Given the description of an element on the screen output the (x, y) to click on. 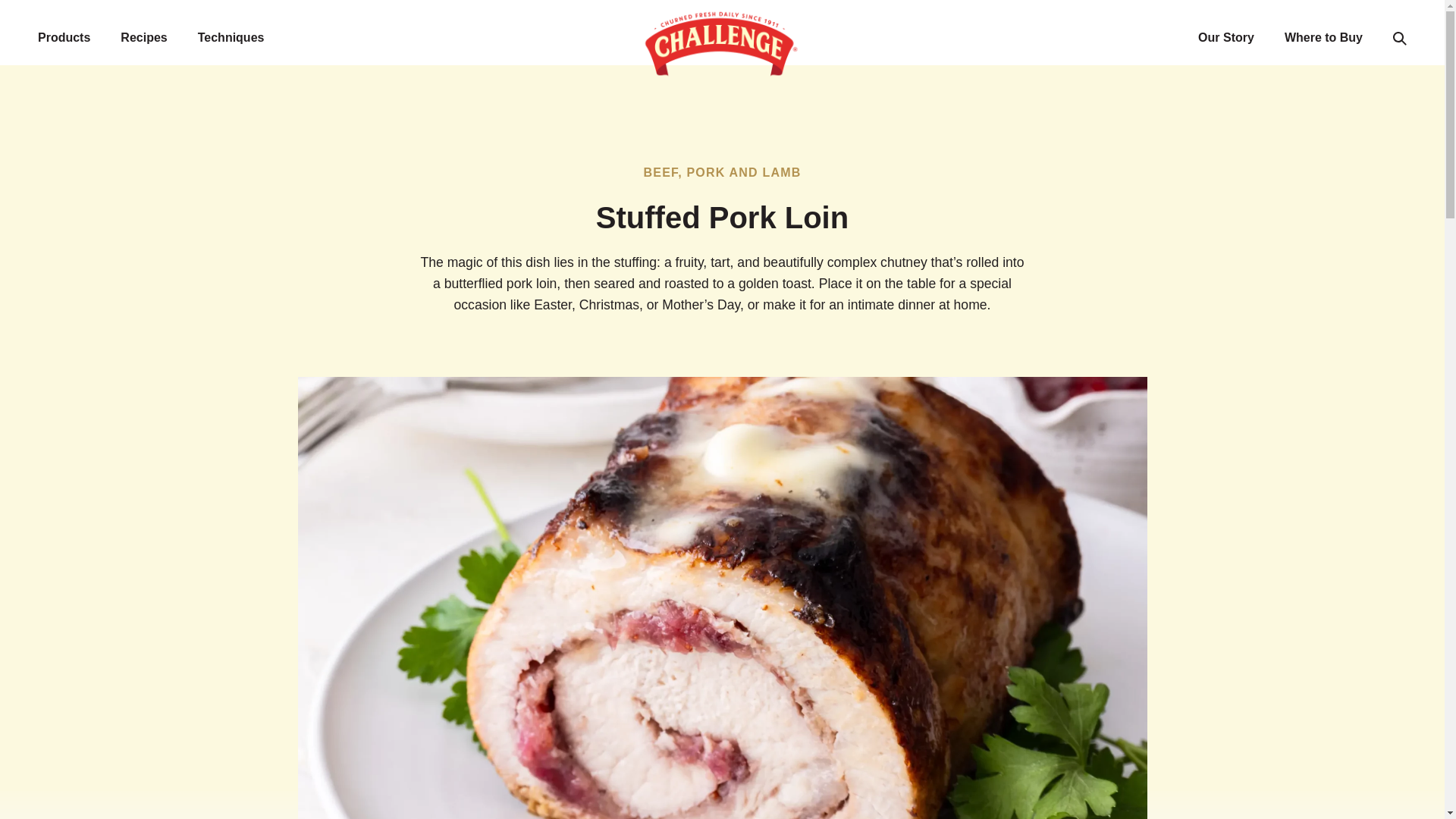
Techniques (231, 37)
Products (63, 37)
BEEF, PORK AND LAMB (721, 172)
Recipes (143, 37)
Our Story (1225, 37)
Where to Buy (1323, 37)
